Given the description of an element on the screen output the (x, y) to click on. 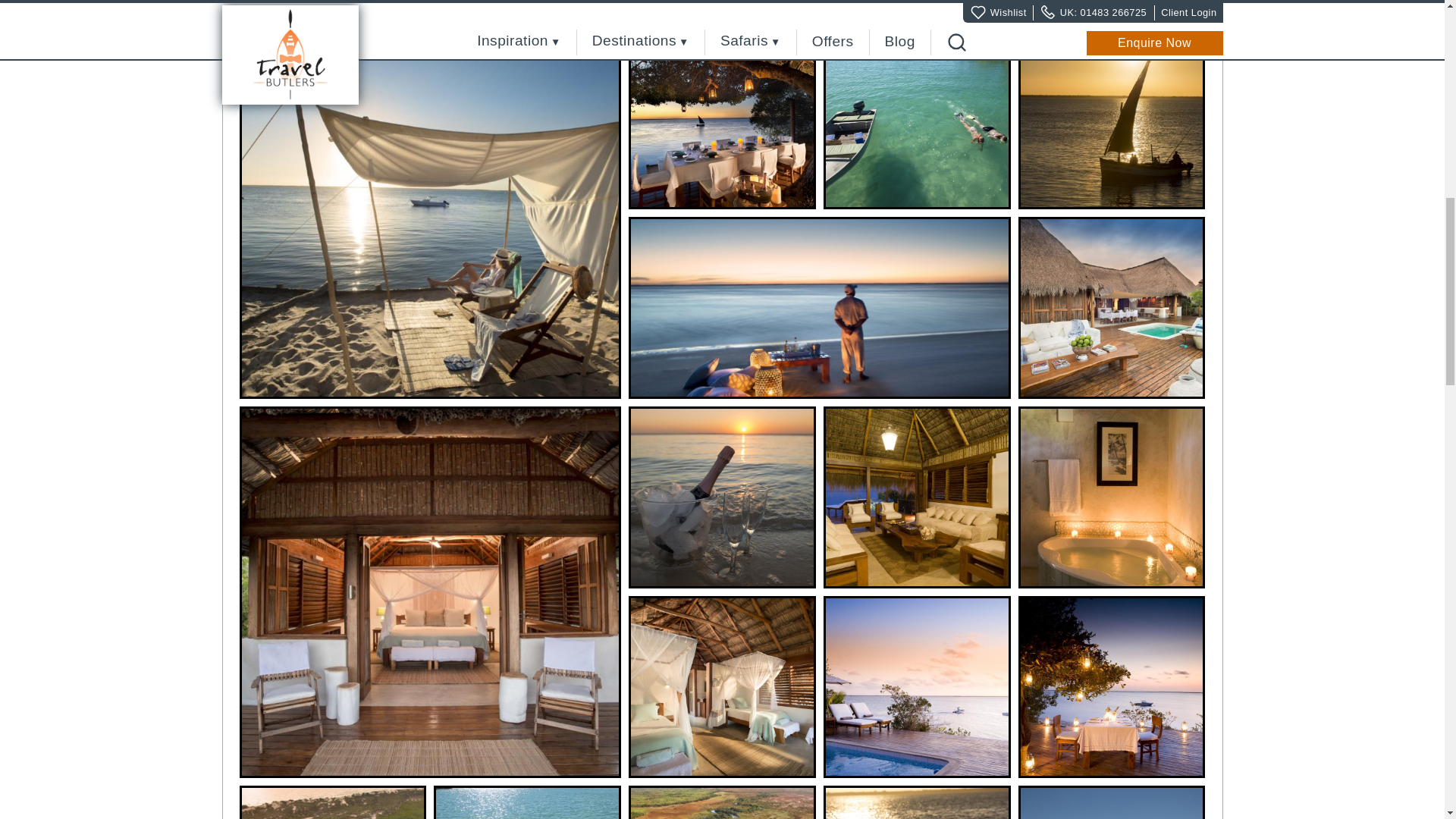
Beachside Dining (819, 307)
Sea View (917, 687)
Villa Twin Bedroom (721, 687)
Snorkelling (917, 118)
Aerial View (333, 802)
Boat Trips (527, 802)
Evening View (721, 118)
Dhow Sunset (1111, 118)
Villa Lounge (917, 497)
Candlelit Dining (1111, 687)
Pool Deck (1111, 307)
Wakeboarding (917, 802)
Cruise Through the Mangroves (721, 802)
